Given the description of an element on the screen output the (x, y) to click on. 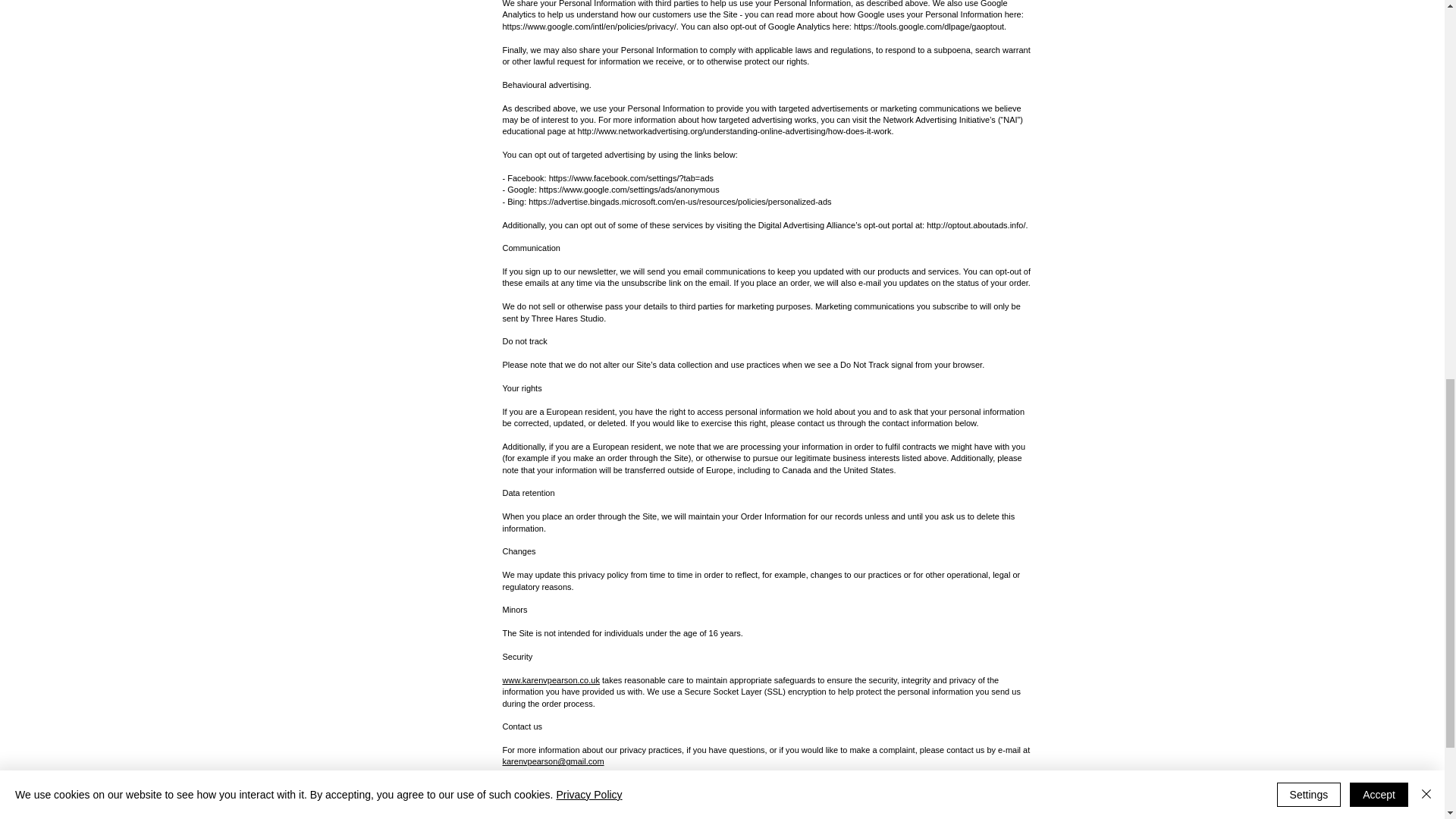
www.karenvpearson.co.uk (550, 679)
